Given the description of an element on the screen output the (x, y) to click on. 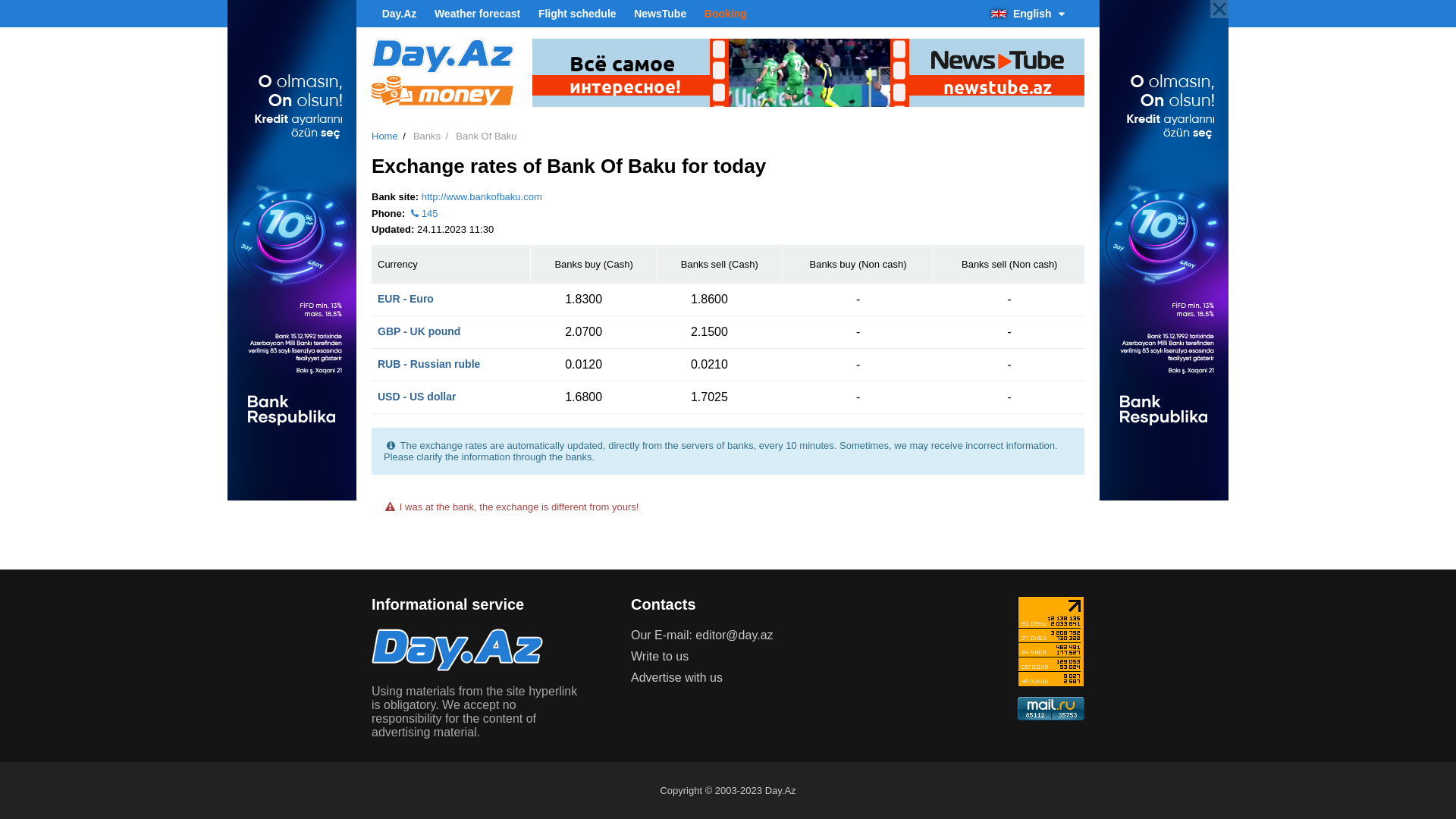
English Element type: text (1033, 13)
Home Element type: text (384, 135)
145 Element type: text (422, 213)
http://www.bankofbaku.com Element type: text (481, 196)
Booking Element type: text (725, 13)
Day.Az Element type: text (399, 13)
USD - US dollar Element type: text (416, 396)
GBP - UK pound Element type: text (418, 331)
Weather forecast Element type: text (476, 13)
Write to us Element type: text (659, 655)
NewsTube Element type: text (659, 13)
3rd party ad content Element type: hover (808, 72)
Advertise with us Element type: text (676, 677)
RUB - Russian ruble Element type: text (428, 363)
EUR - Euro Element type: text (405, 298)
editor@day.az Element type: text (733, 634)
Flight schedule Element type: text (577, 13)
